Given the description of an element on the screen output the (x, y) to click on. 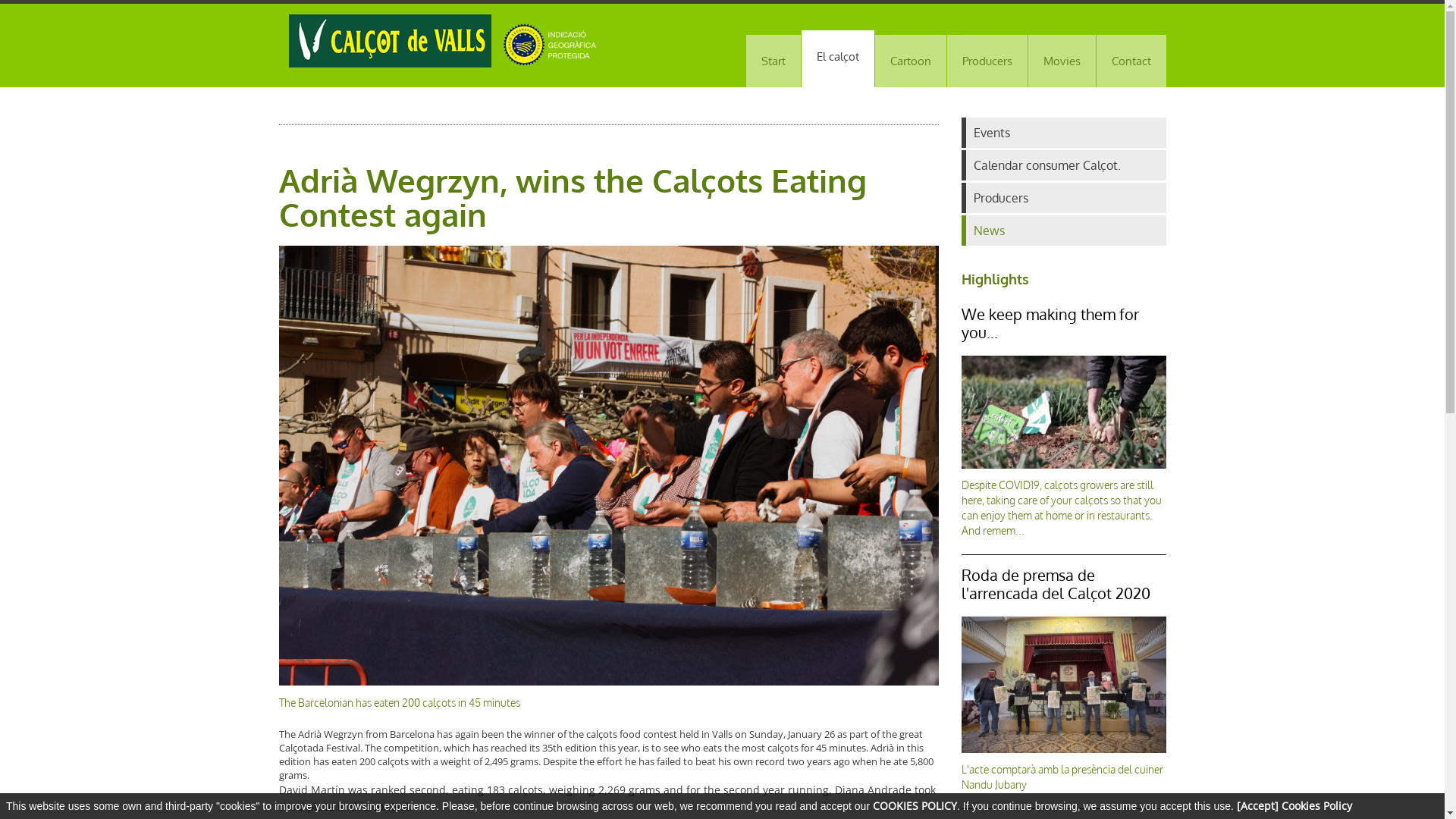
Contact Element type: text (1131, 60)
COOKIES POLICY Element type: text (914, 805)
[Accept] Cookies Policy Element type: text (1294, 805)
Events Element type: text (1063, 132)
We keep making them for you... Element type: hover (1063, 411)
Movies Element type: text (1061, 60)
Producers Element type: text (986, 60)
Cartoon Element type: text (910, 60)
Producers Element type: text (1063, 197)
Start Element type: text (773, 60)
News Element type: text (1063, 230)
We keep making them for you... Element type: text (1050, 323)
